Given the description of an element on the screen output the (x, y) to click on. 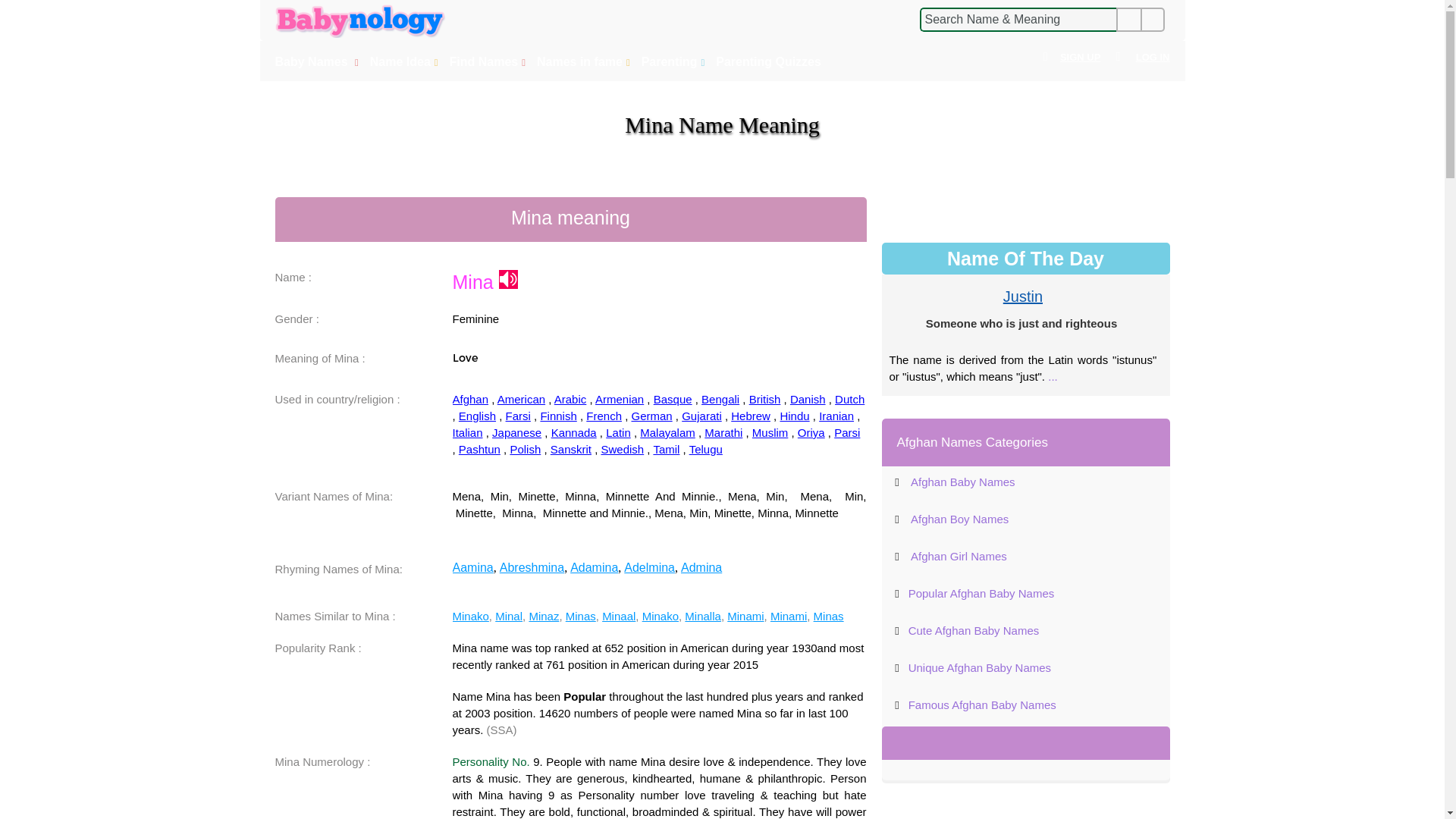
Afghan  Girl Names meaning (959, 555)
Afghan  Boy Names meaning (960, 518)
Afghan Baby Names meaning (962, 481)
Baby Names (318, 62)
Mina   (508, 279)
Name Idea (405, 62)
